Given the description of an element on the screen output the (x, y) to click on. 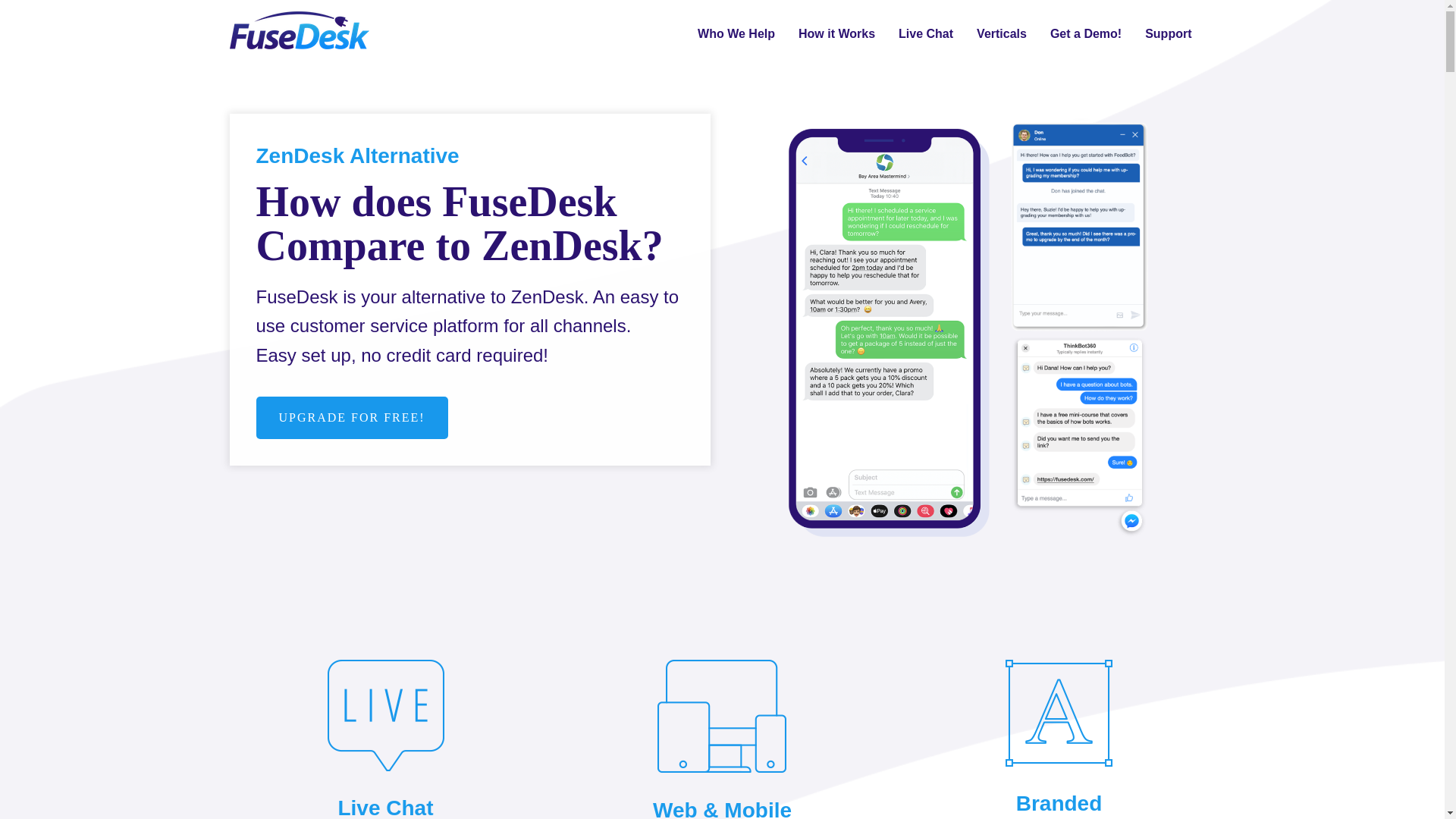
How it Works (836, 32)
Who We Help (735, 32)
Get a Demo! (1085, 32)
